Given the description of an element on the screen output the (x, y) to click on. 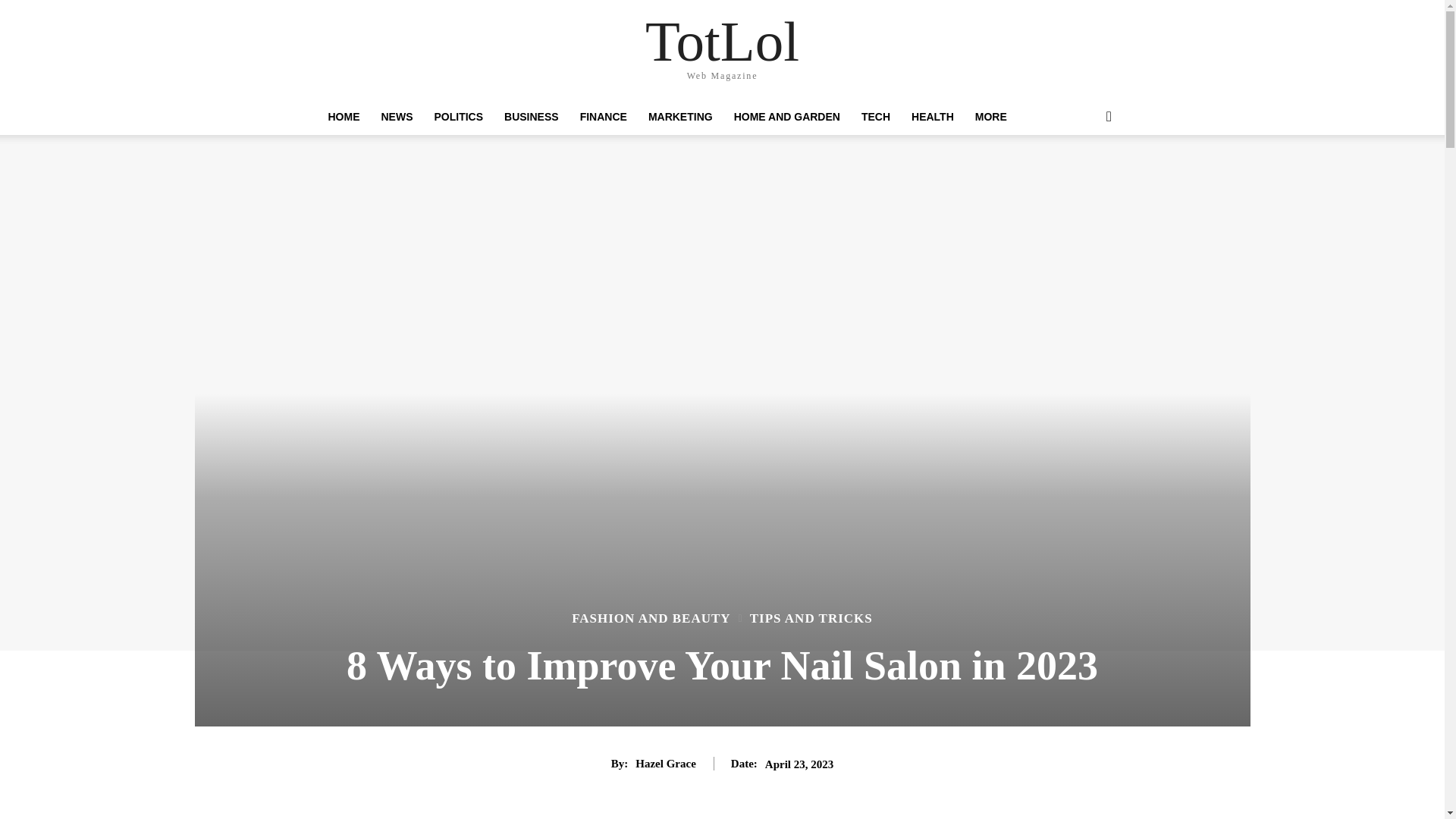
MORE (990, 116)
BUSINESS (531, 116)
HEALTH (932, 116)
POLITICS (458, 116)
MARKETING (680, 116)
TECH (875, 116)
HOME AND GARDEN (786, 116)
FINANCE (603, 116)
TotLol (722, 41)
HOME (343, 116)
NEWS (396, 116)
